Given the description of an element on the screen output the (x, y) to click on. 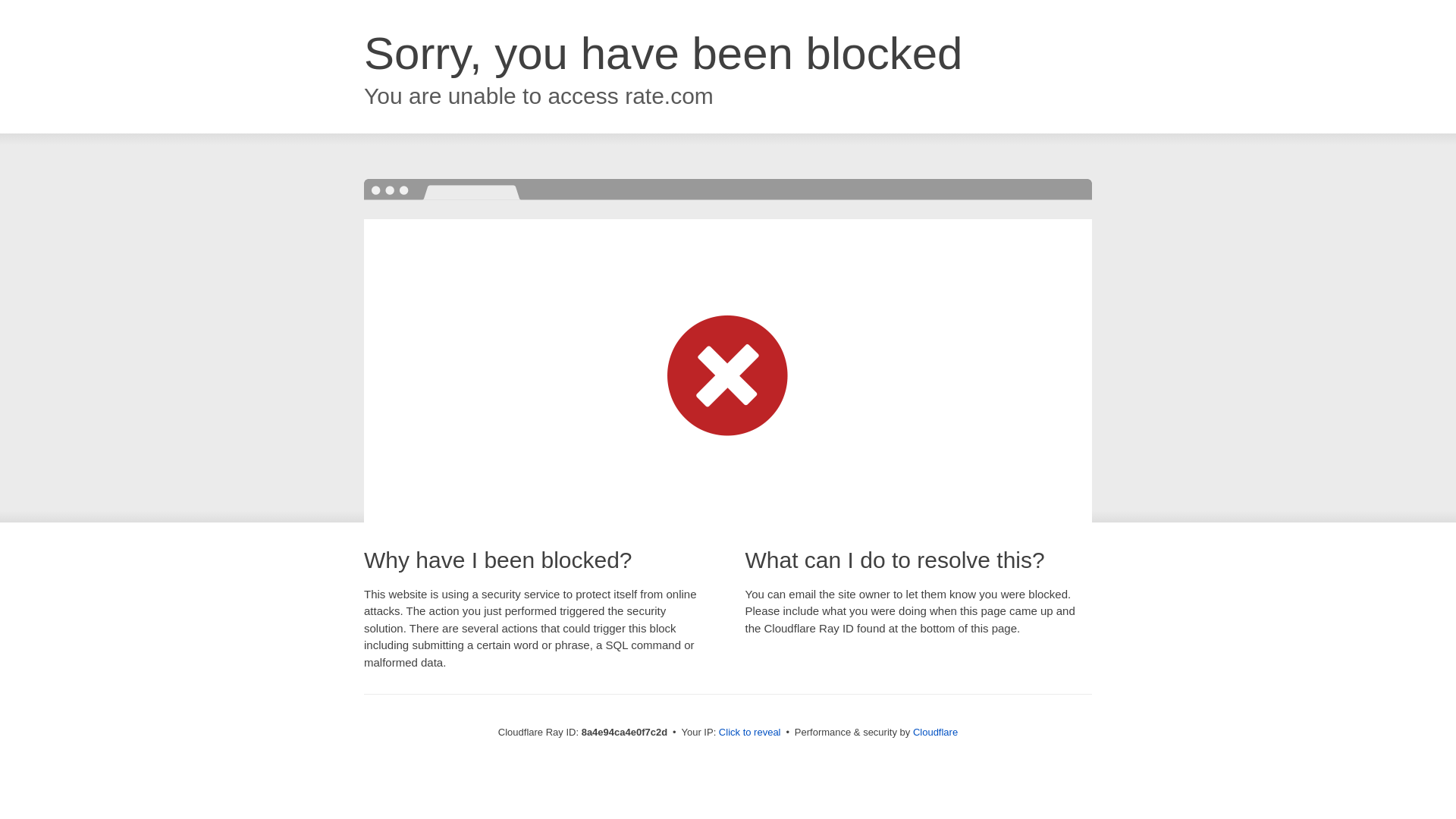
Cloudflare (935, 731)
Click to reveal (749, 732)
